Given the description of an element on the screen output the (x, y) to click on. 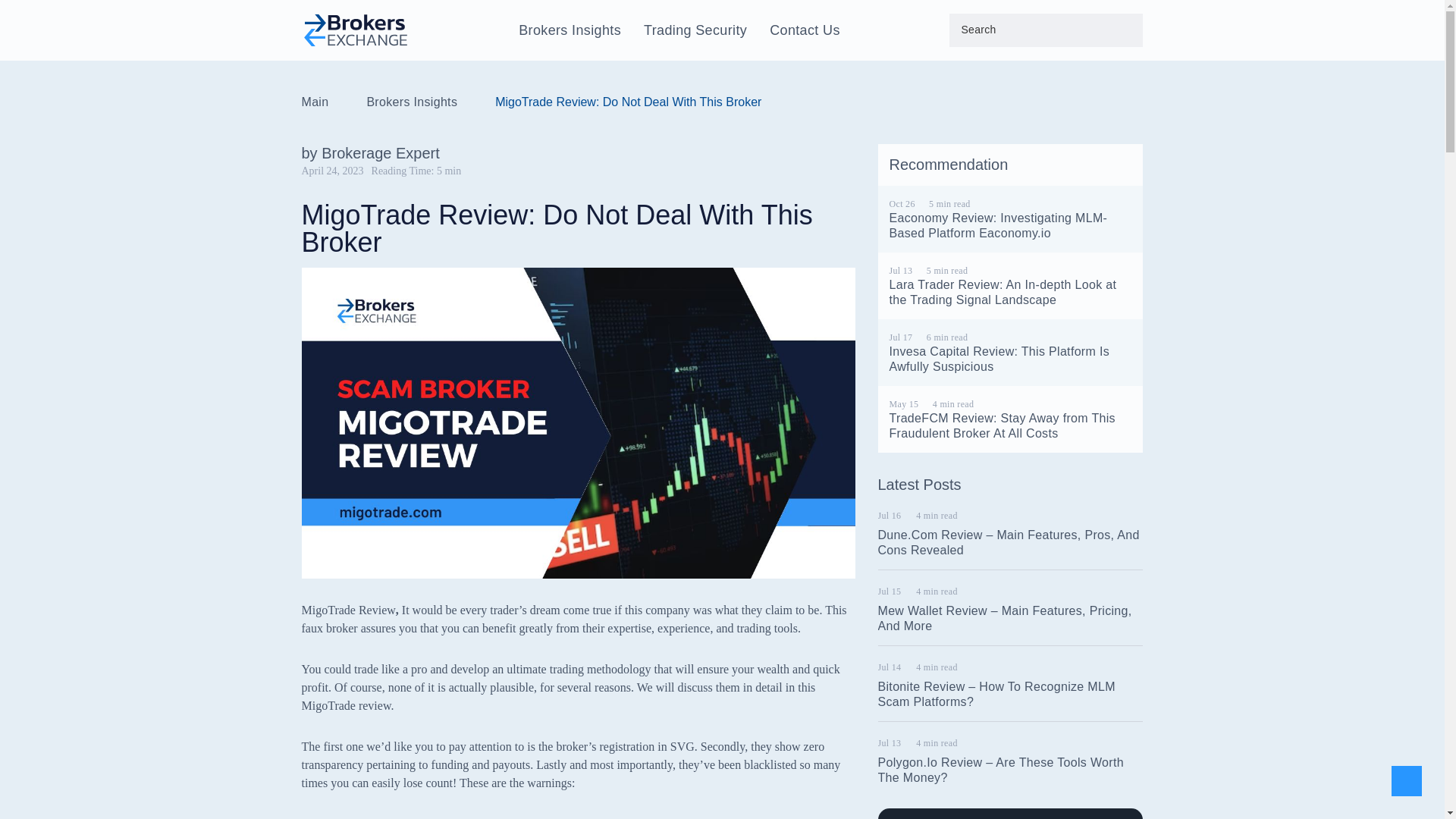
Contact Us (805, 29)
Search (32, 12)
Main (315, 101)
Trading Security (694, 29)
Brokers Insights (569, 29)
Brokers Insights (411, 101)
